Given the description of an element on the screen output the (x, y) to click on. 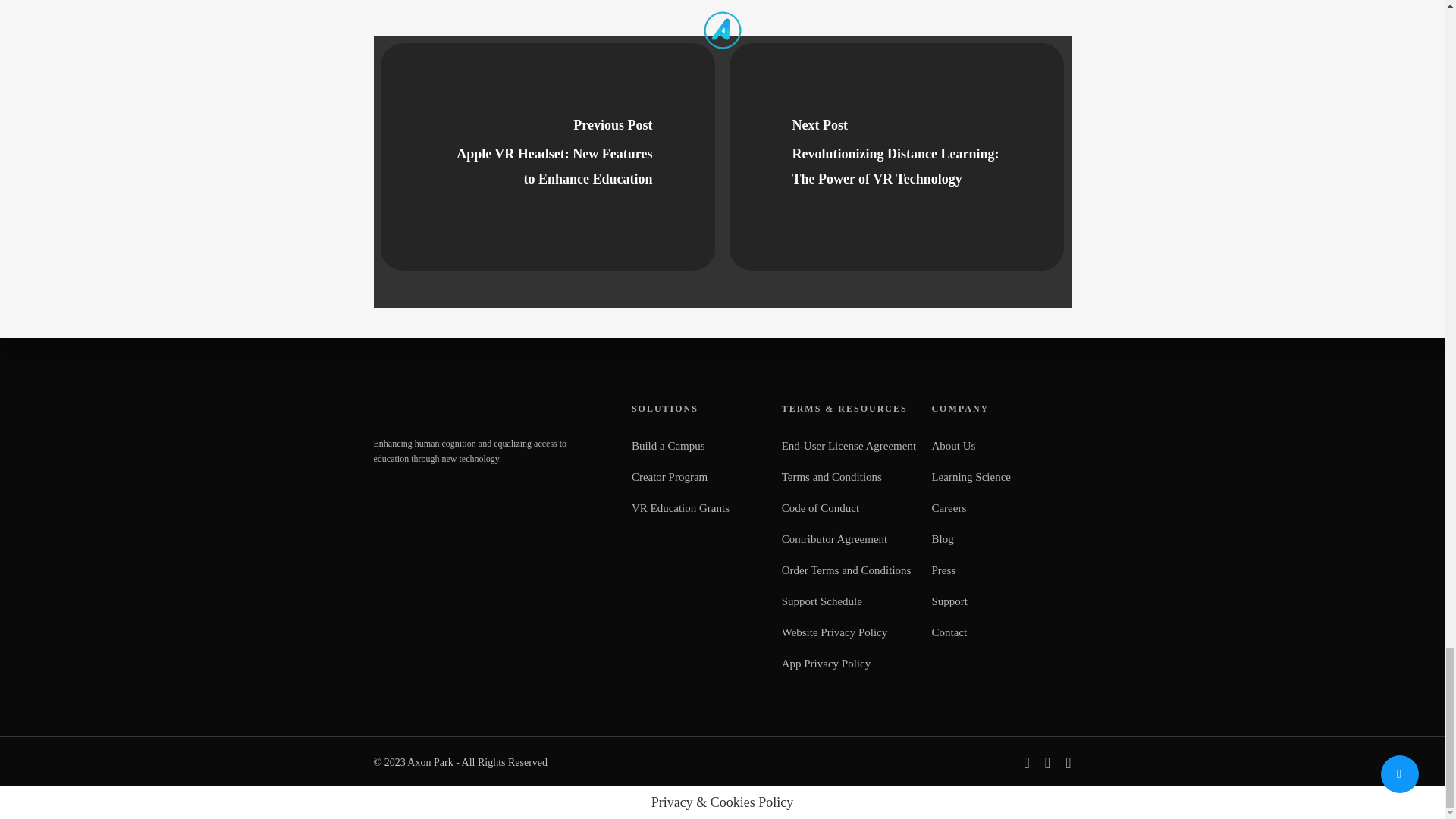
VR Education Grants (699, 508)
Creator Program (699, 477)
End-User License Agreement (849, 446)
Code of Conduct (849, 508)
Terms and Conditions (849, 477)
Build a Campus (699, 446)
